Given the description of an element on the screen output the (x, y) to click on. 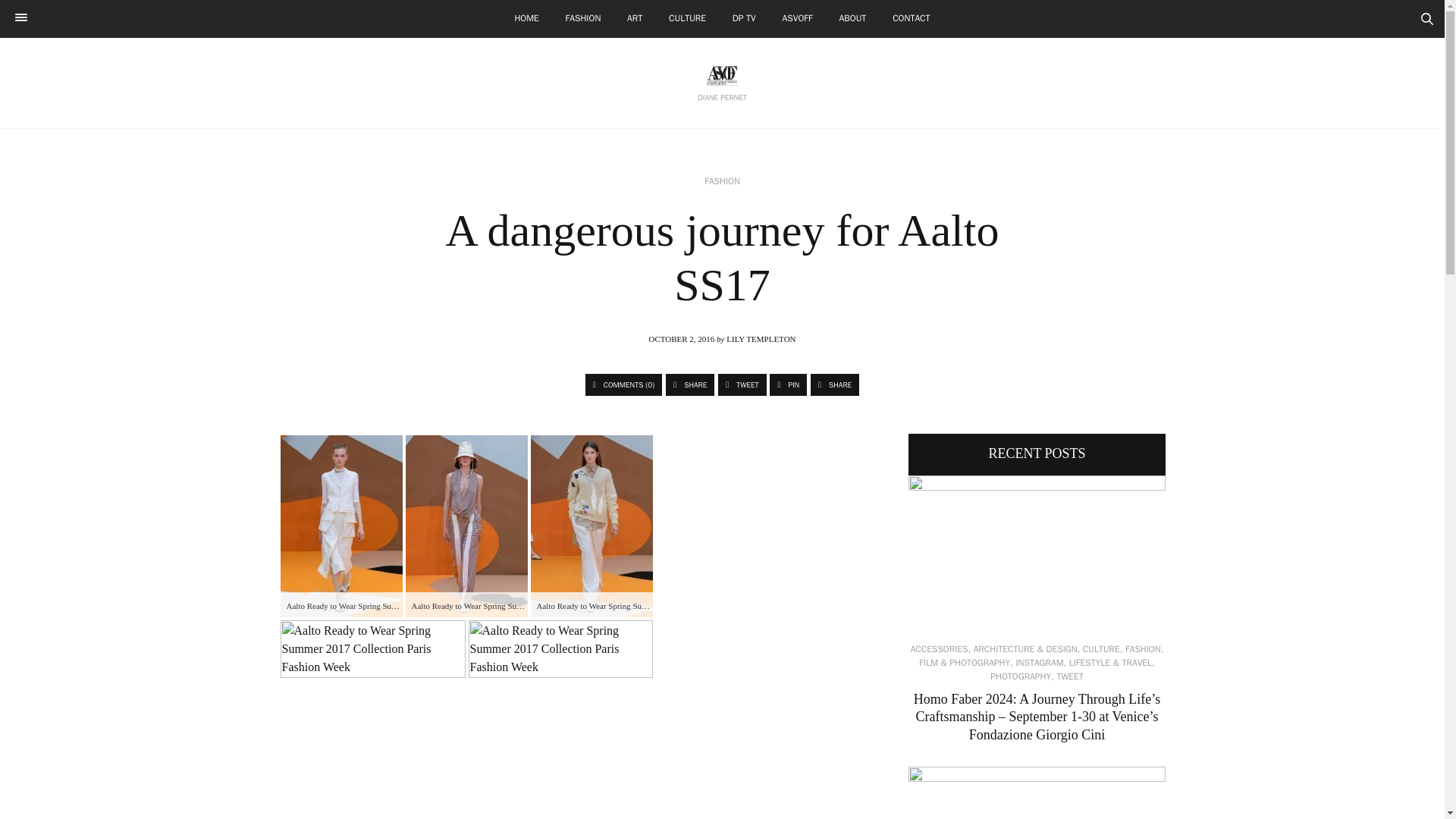
PIN (788, 384)
FASHION (583, 18)
A Shaded View on Fashion (722, 75)
Posts by Lily Templeton (760, 338)
FASHION (721, 181)
SHARE (689, 384)
ART (634, 18)
ASVOFF (797, 18)
